Given the description of an element on the screen output the (x, y) to click on. 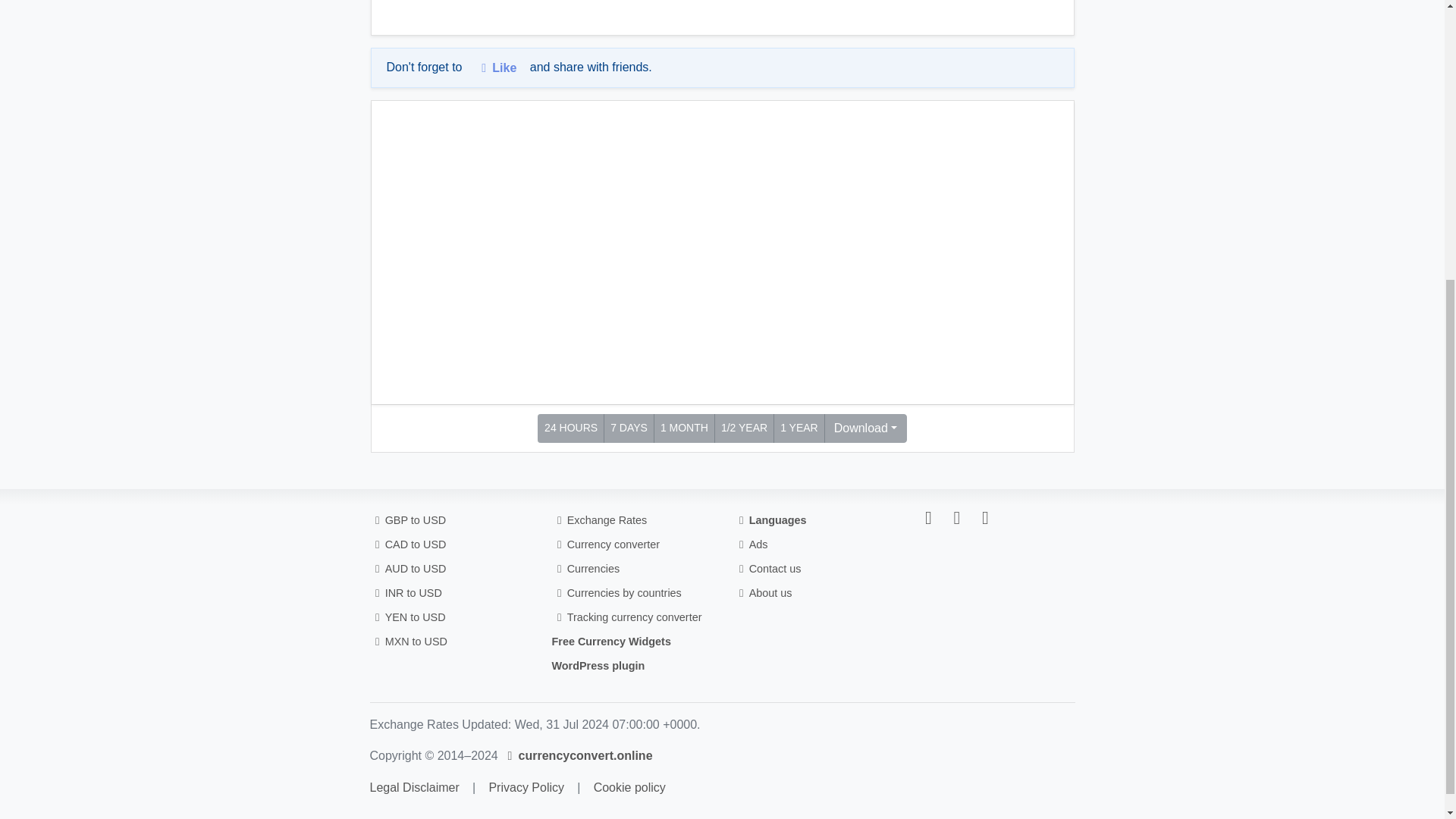
1 MONTH (683, 428)
Currency converter (606, 544)
Exchange Rates (599, 520)
Download (865, 428)
Like (495, 67)
1 YEAR (799, 428)
GBP to USD (407, 520)
Currencies by countries (616, 592)
24 HOURS (570, 428)
Currencies (585, 568)
AUD to USD (407, 568)
INR to USD (405, 592)
7 DAYS (628, 428)
MXN to USD (408, 641)
YEN to USD (407, 616)
